Given the description of an element on the screen output the (x, y) to click on. 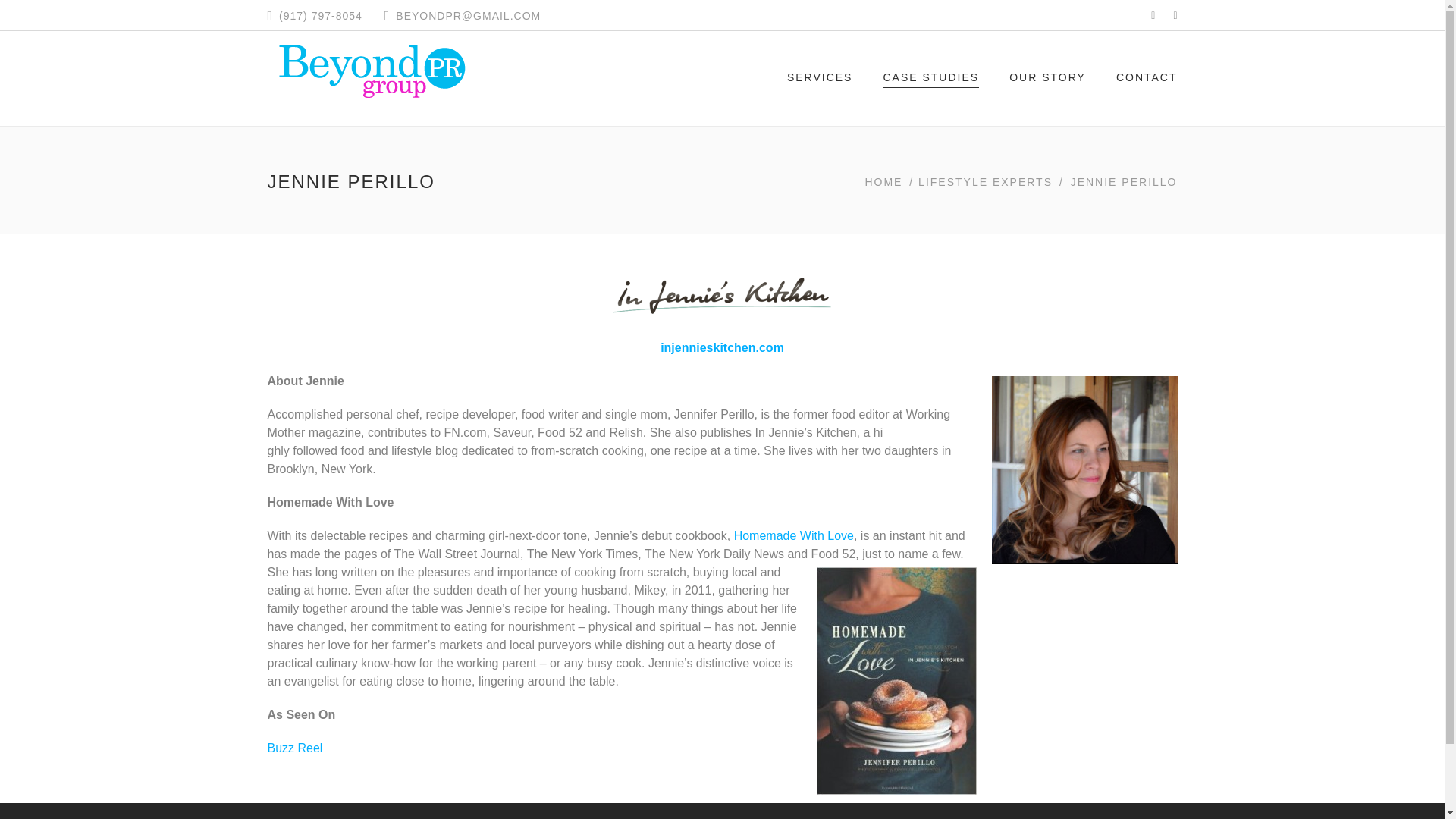
Homemade With Love (793, 535)
CONTACT (1146, 78)
SERVICES (820, 78)
OUR STORY (1047, 78)
injennieskitchen.com (722, 347)
HOME (884, 181)
CASE STUDIES (930, 78)
Buzz Reel (293, 748)
LIFESTYLE EXPERTS (986, 181)
